Given the description of an element on the screen output the (x, y) to click on. 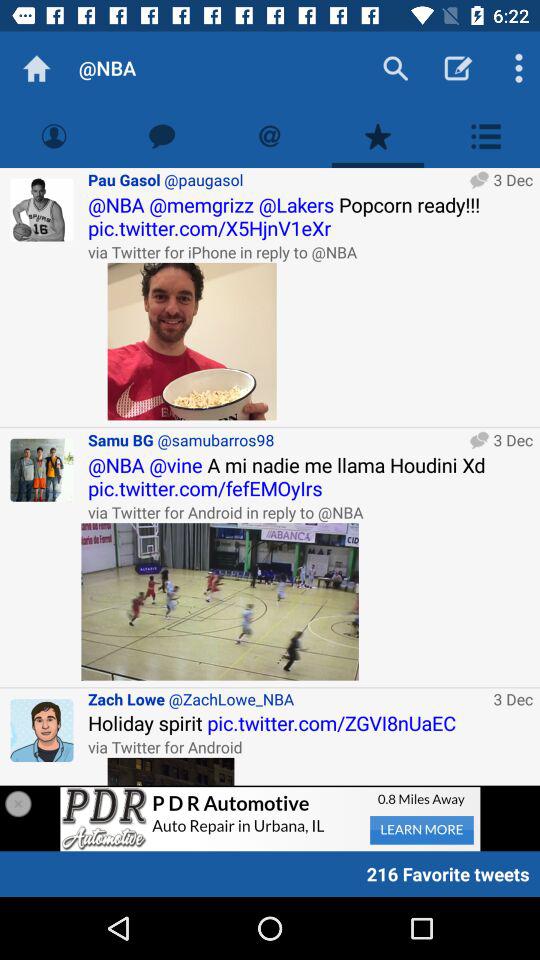
show list (486, 136)
